Given the description of an element on the screen output the (x, y) to click on. 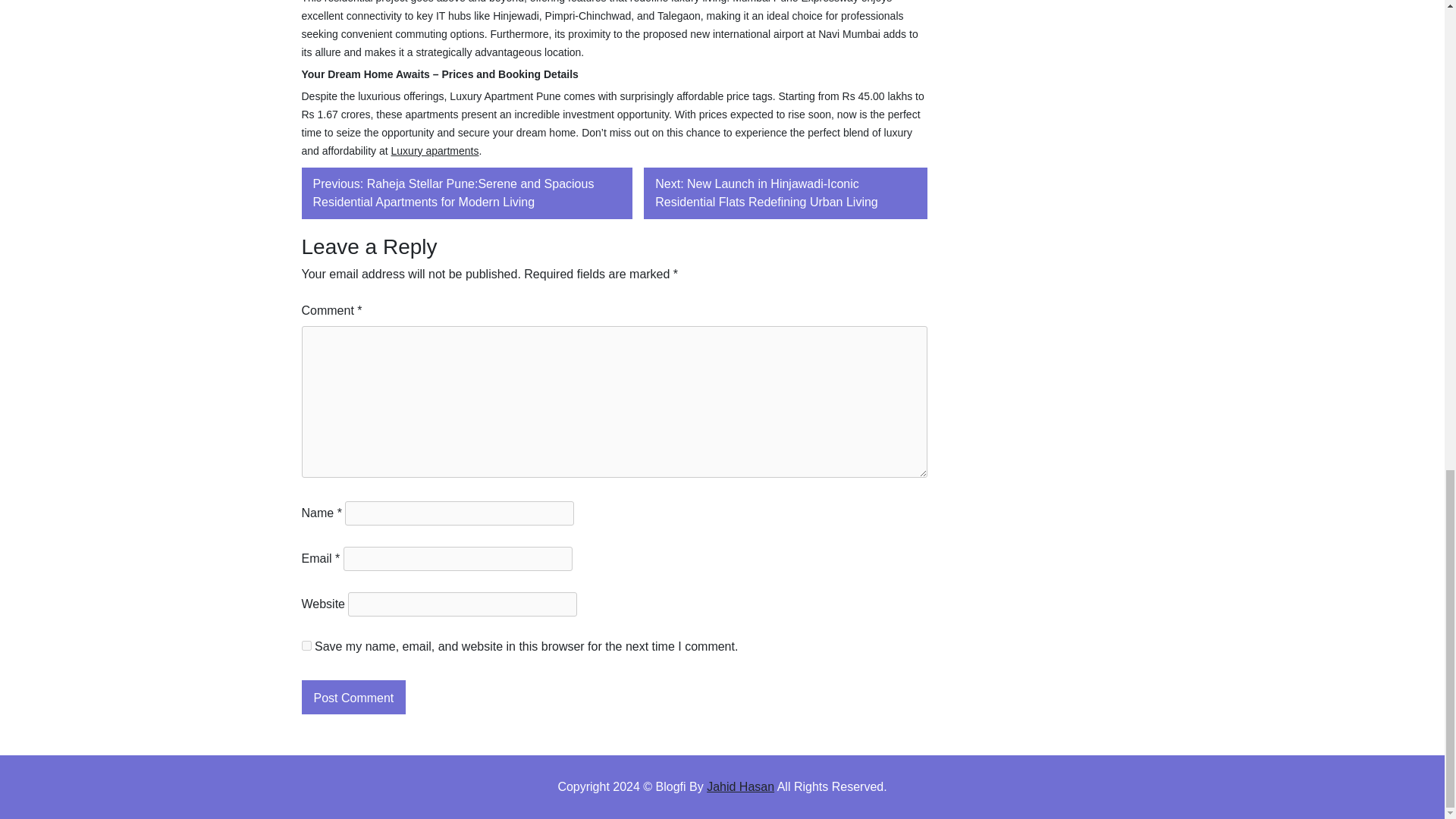
Post Comment (353, 697)
Post Comment (353, 697)
Luxury apartments (435, 150)
Jahid Hasan (740, 786)
yes (306, 645)
